Given the description of an element on the screen output the (x, y) to click on. 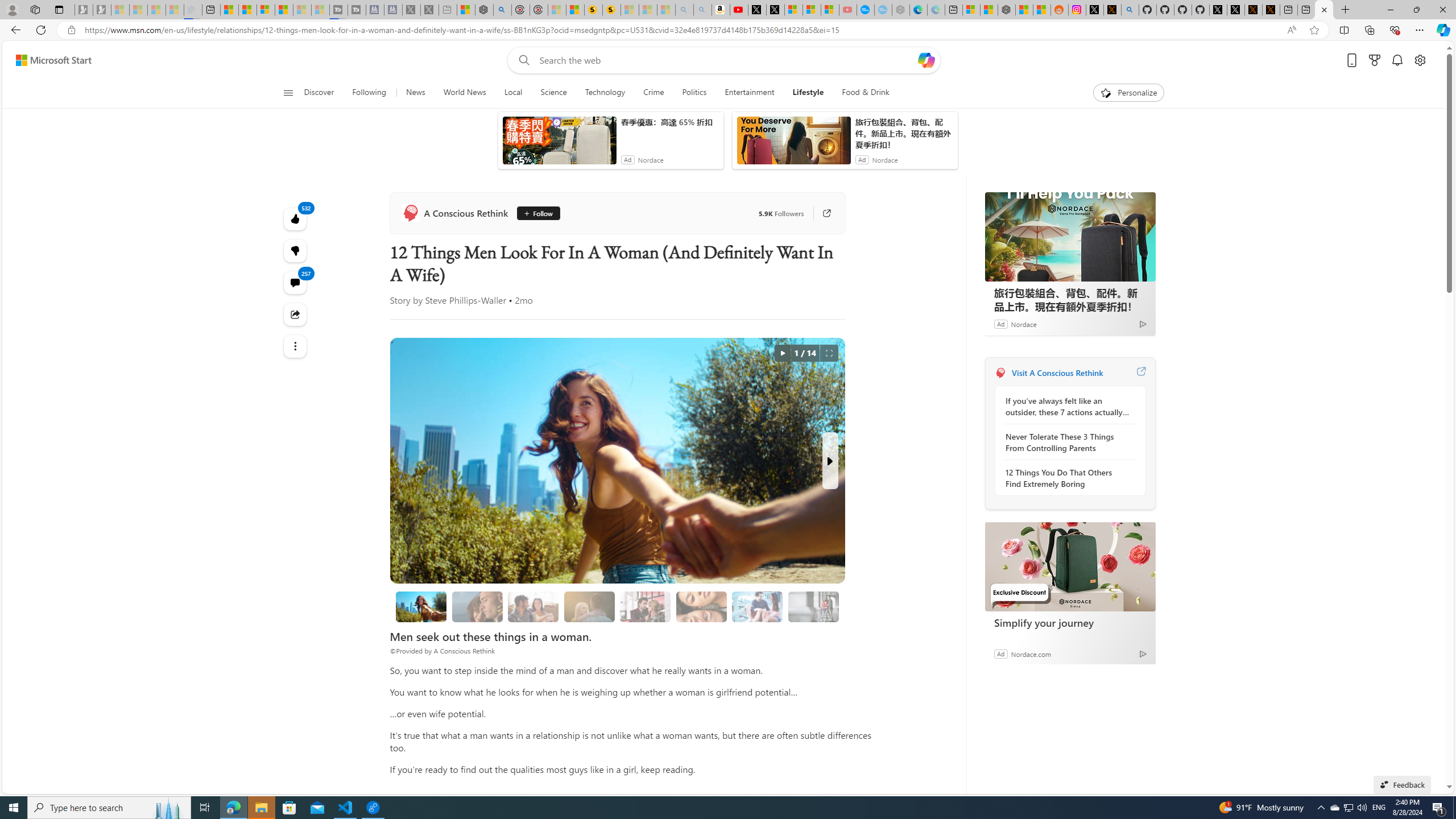
4 Like (651, 327)
Chip Chick (647, 270)
Class: icon-img (1146, 718)
AutomationID: tab-18 (456, 328)
The Manual (647, 270)
Travel (782, 151)
AutomationID: tab-25 (488, 328)
The Associated Press (299, 466)
Launch Edge (1078, 689)
T3 (647, 270)
Enter your search term (726, 78)
AutomationID: tab-24 (483, 328)
